Given the description of an element on the screen output the (x, y) to click on. 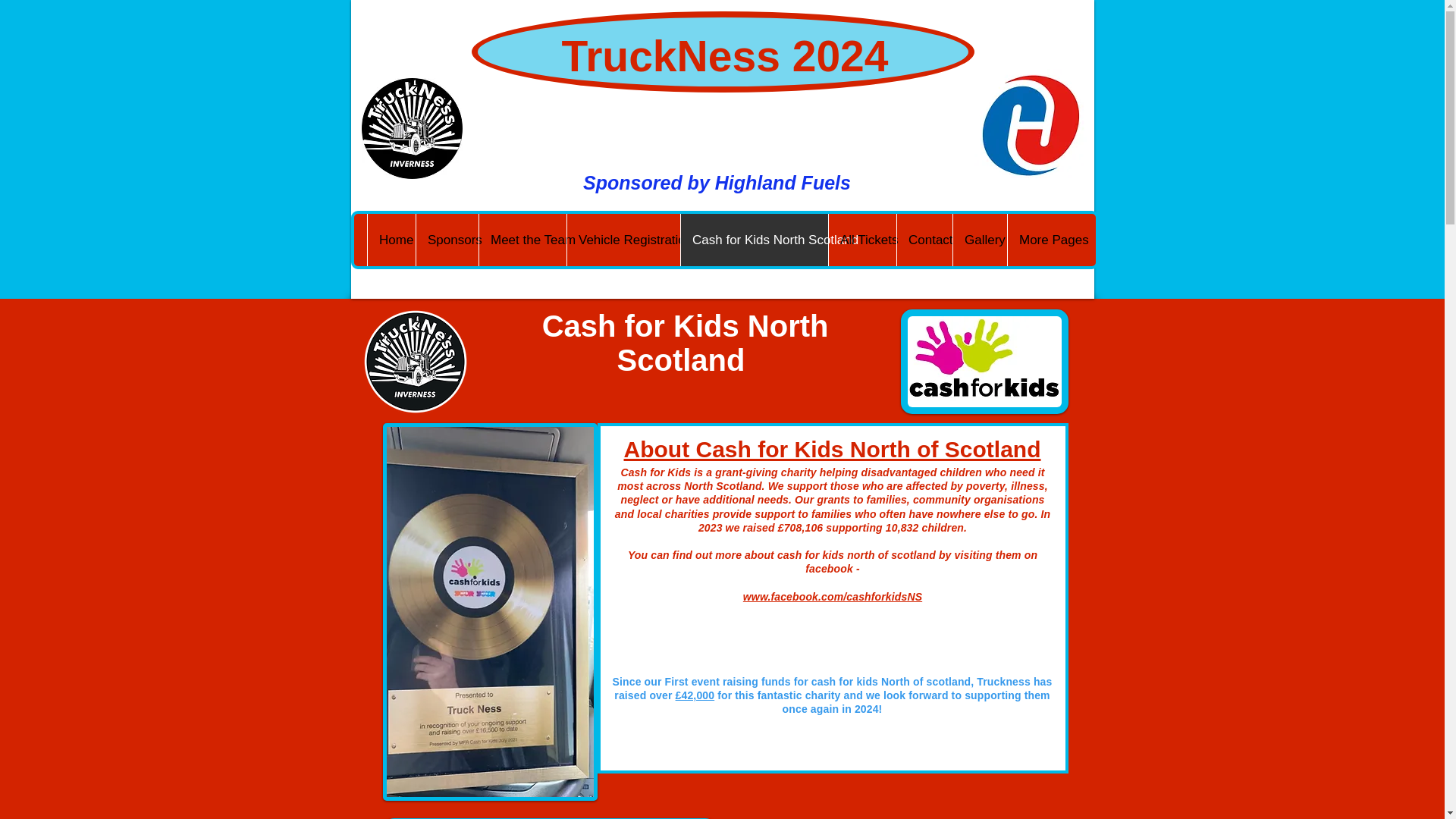
Vehicle Registrations (622, 239)
Home (390, 239)
Cash for Kids.jpg (984, 361)
All Tickets (862, 239)
Cash for Kids North Scotland (753, 239)
Gallery (979, 239)
TruckNess 2024 (724, 55)
Contact (924, 239)
Sponsors (446, 239)
Meet the Team (522, 239)
